Given the description of an element on the screen output the (x, y) to click on. 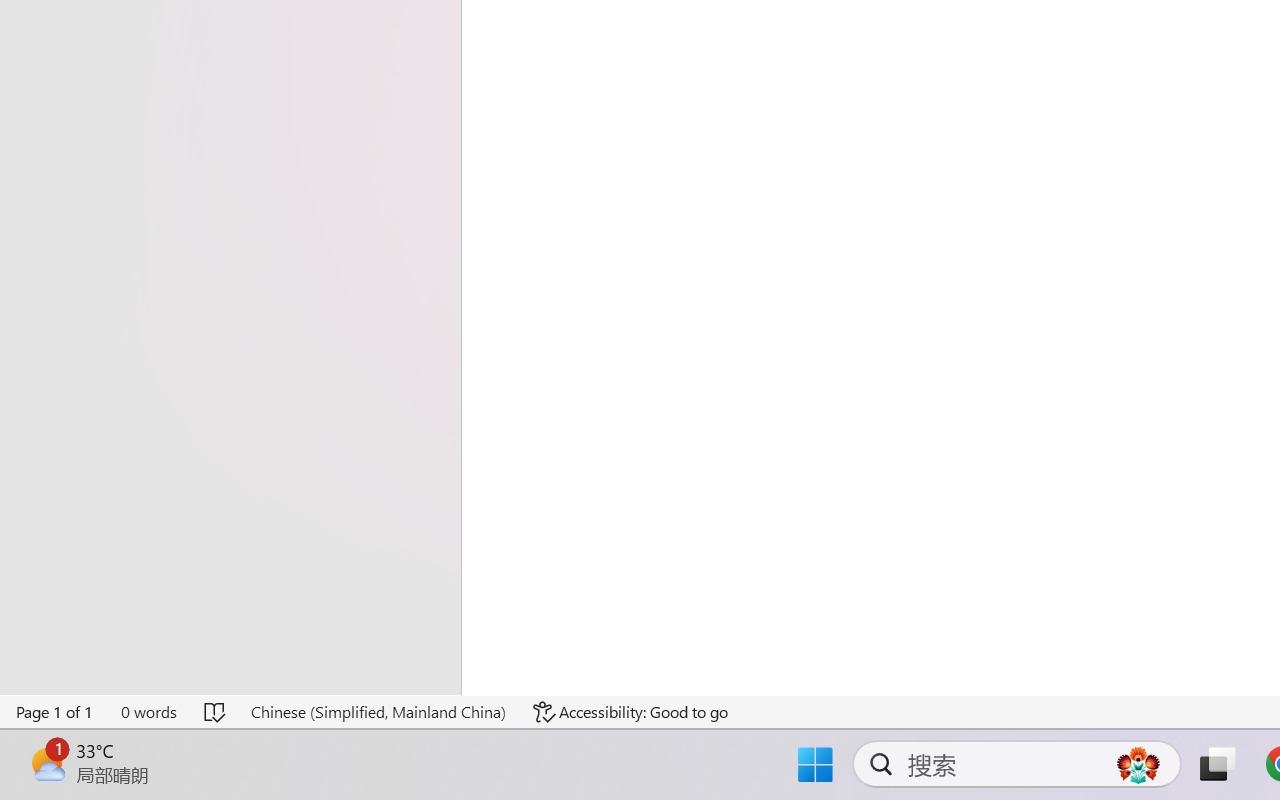
Language Chinese (Simplified, Mainland China) (378, 712)
